Given the description of an element on the screen output the (x, y) to click on. 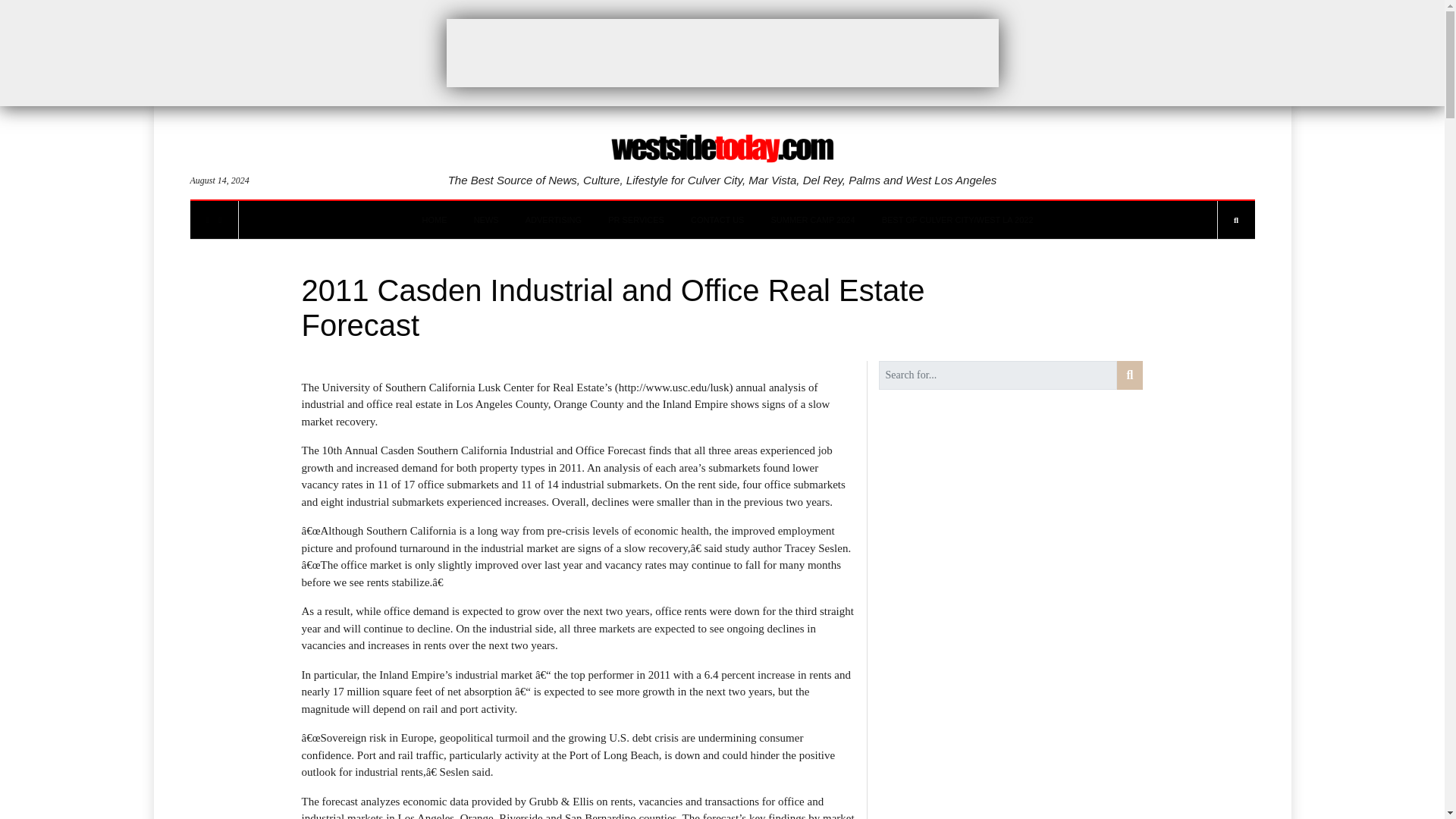
3rd party ad content (721, 52)
PR SERVICES (635, 219)
SUMMER CAMP 2024 (813, 219)
ADVERTISING (552, 219)
CONTACT US (717, 219)
